Given the description of an element on the screen output the (x, y) to click on. 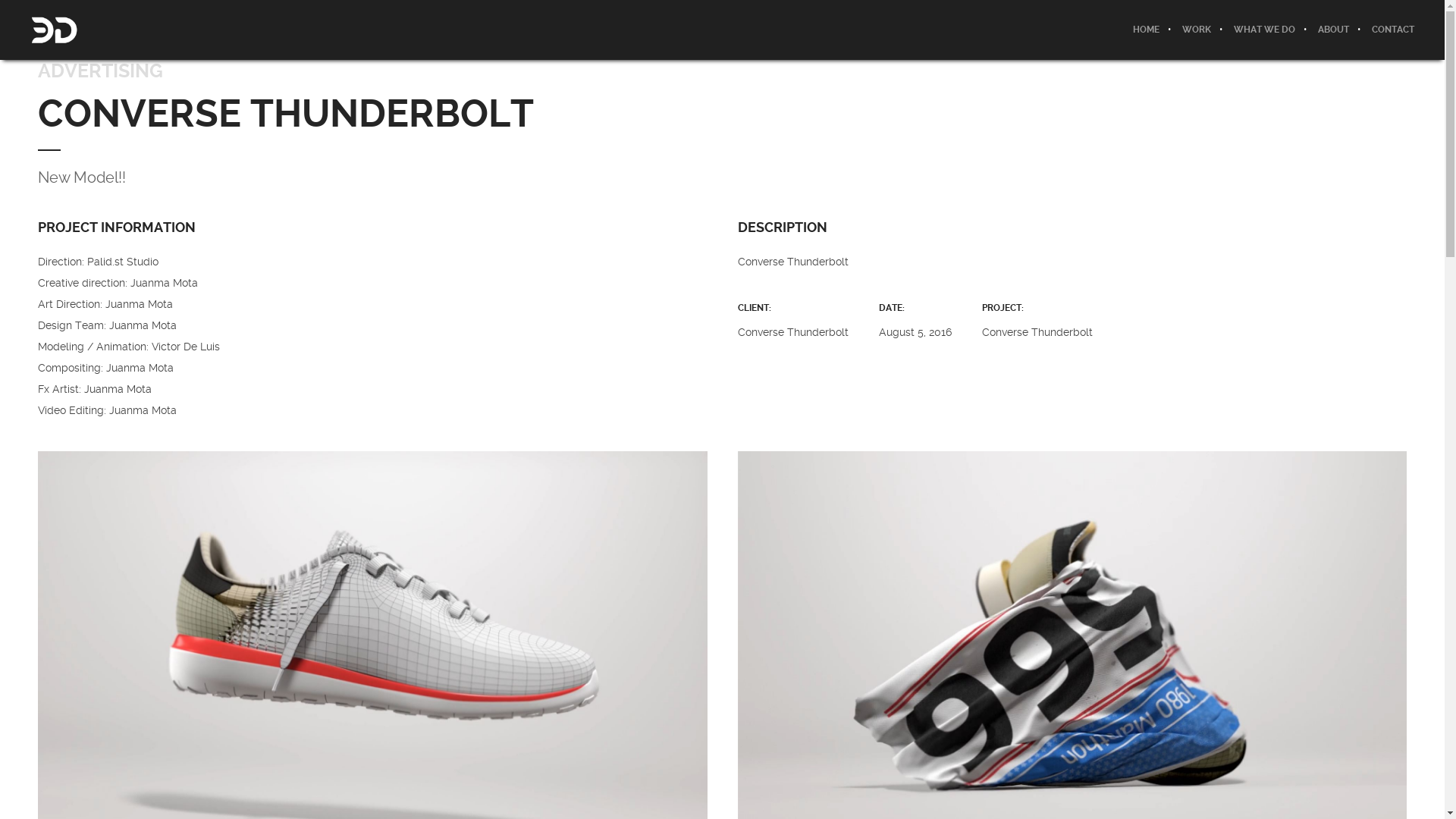
WHAT WE DO Element type: text (1264, 29)
HOME Element type: text (1145, 29)
ABOUT Element type: text (1333, 29)
WORK Element type: text (1196, 29)
CONTACT Element type: text (1387, 29)
